Given the description of an element on the screen output the (x, y) to click on. 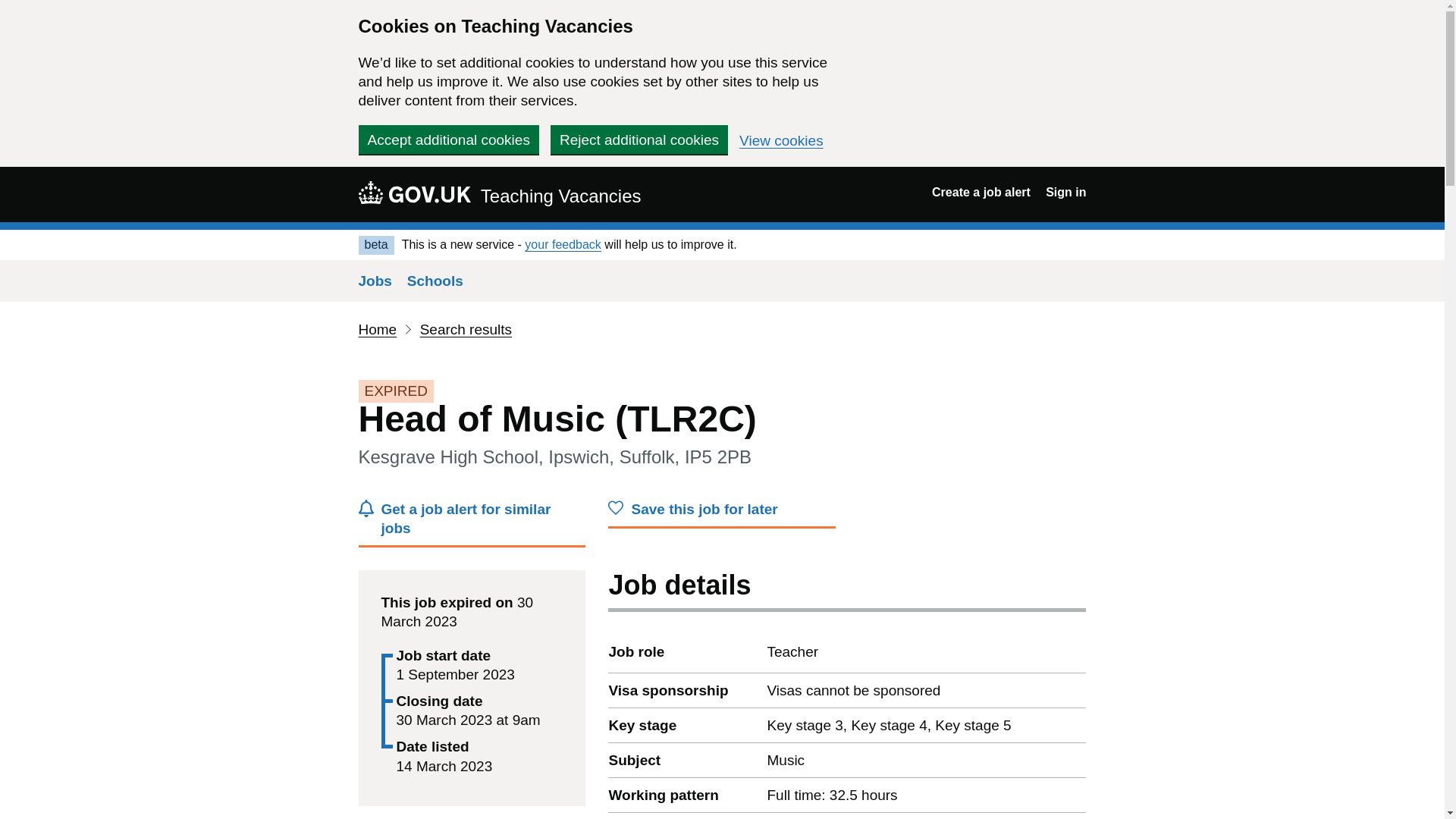
GOV.UK (414, 191)
Get a job alert for similar jobs (471, 522)
View cookies (781, 140)
Search results (466, 329)
Schools (435, 281)
Sign in (1065, 192)
Save this job for later (721, 513)
Create a job alert (980, 192)
GOV.UK Teaching Vacancies (499, 194)
